Given the description of an element on the screen output the (x, y) to click on. 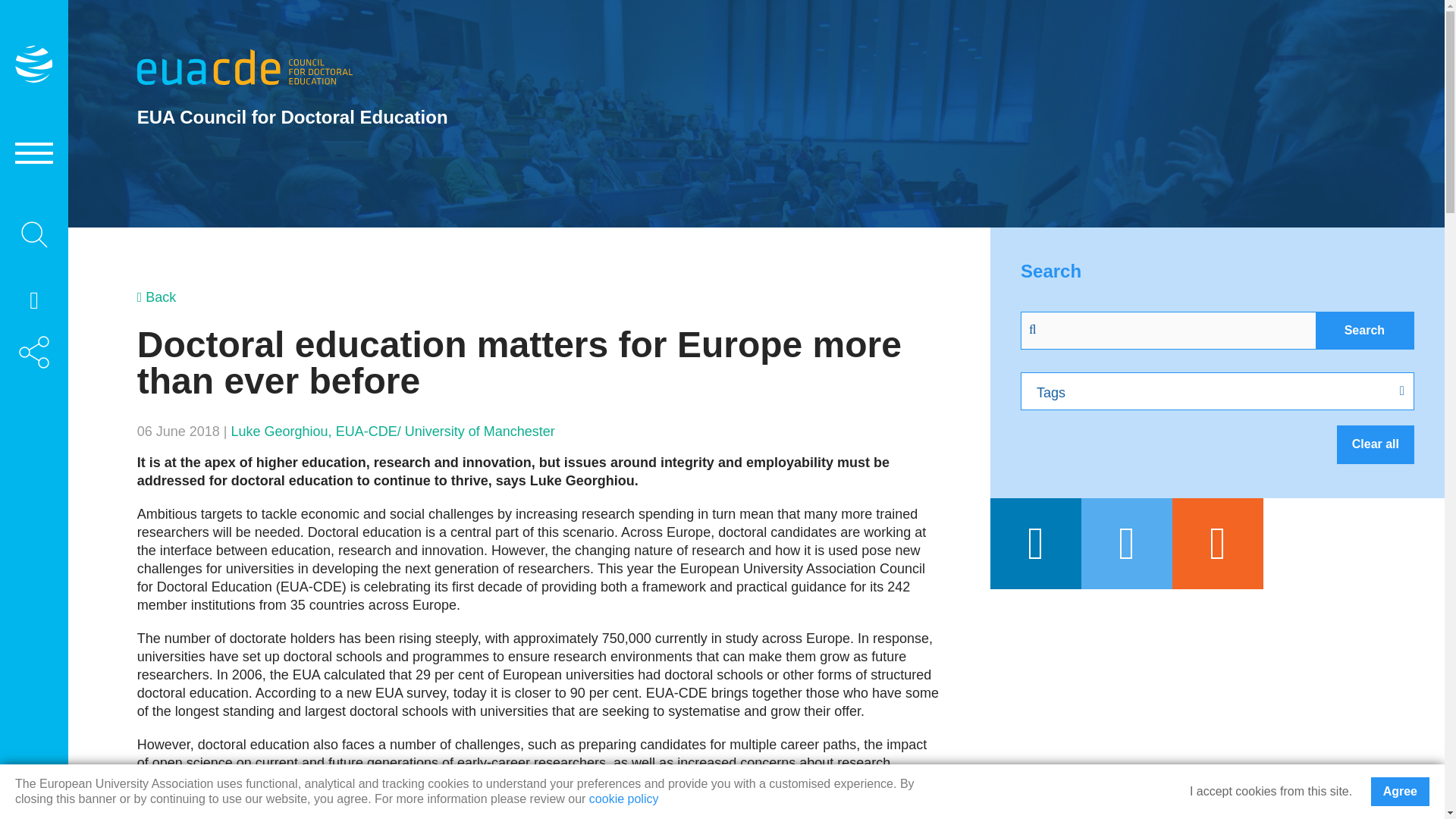
Back (156, 296)
Blog Filter Search (1169, 330)
Clear all (1374, 444)
Search (1364, 330)
